Given the description of an element on the screen output the (x, y) to click on. 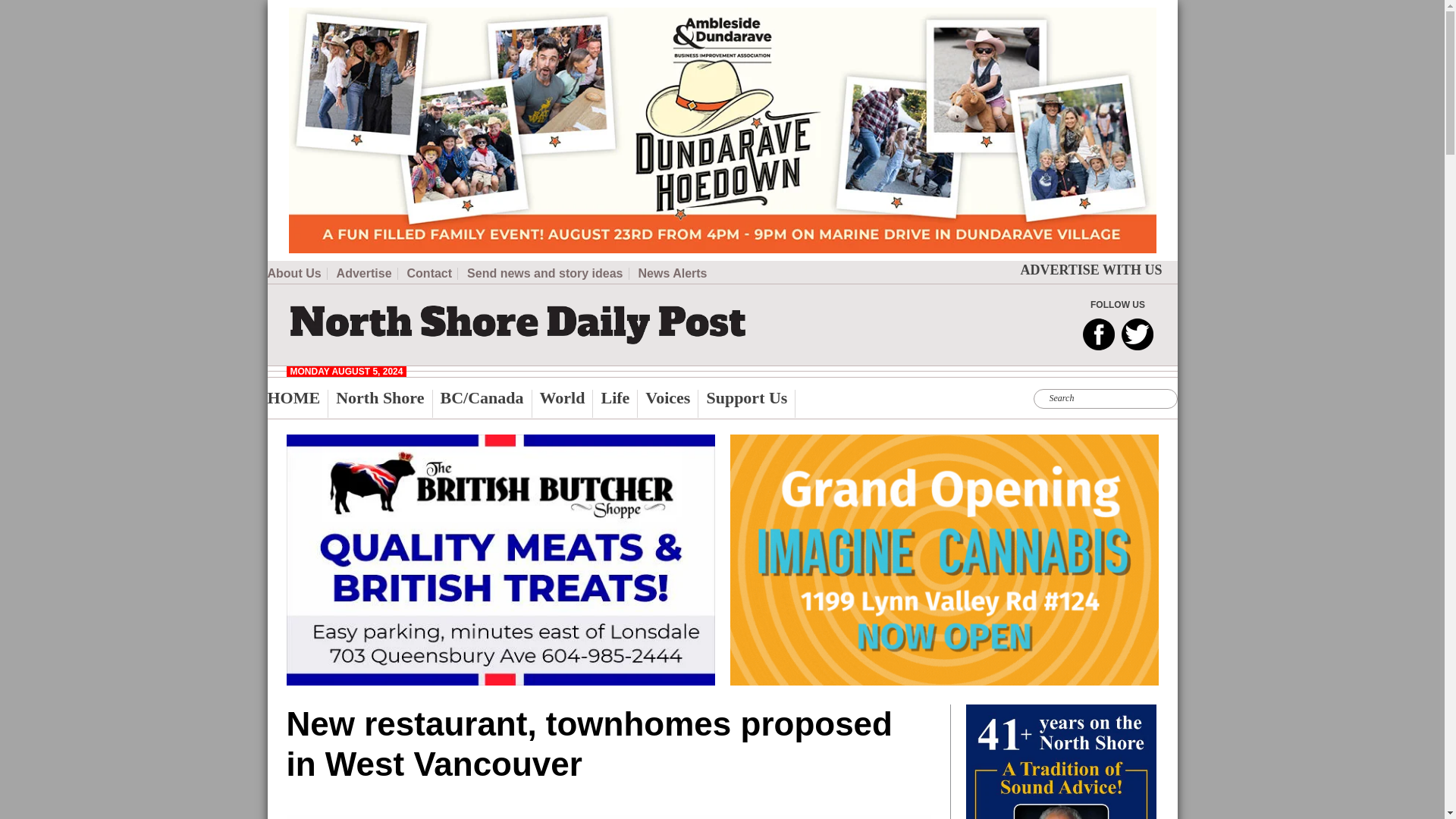
HOME (297, 403)
News Alerts (673, 273)
Life (618, 403)
ADVERTISE WITH US (1090, 270)
Search (455, 9)
About Us (296, 273)
World (567, 403)
Support Us (750, 403)
Send news and story ideas (547, 273)
